Given the description of an element on the screen output the (x, y) to click on. 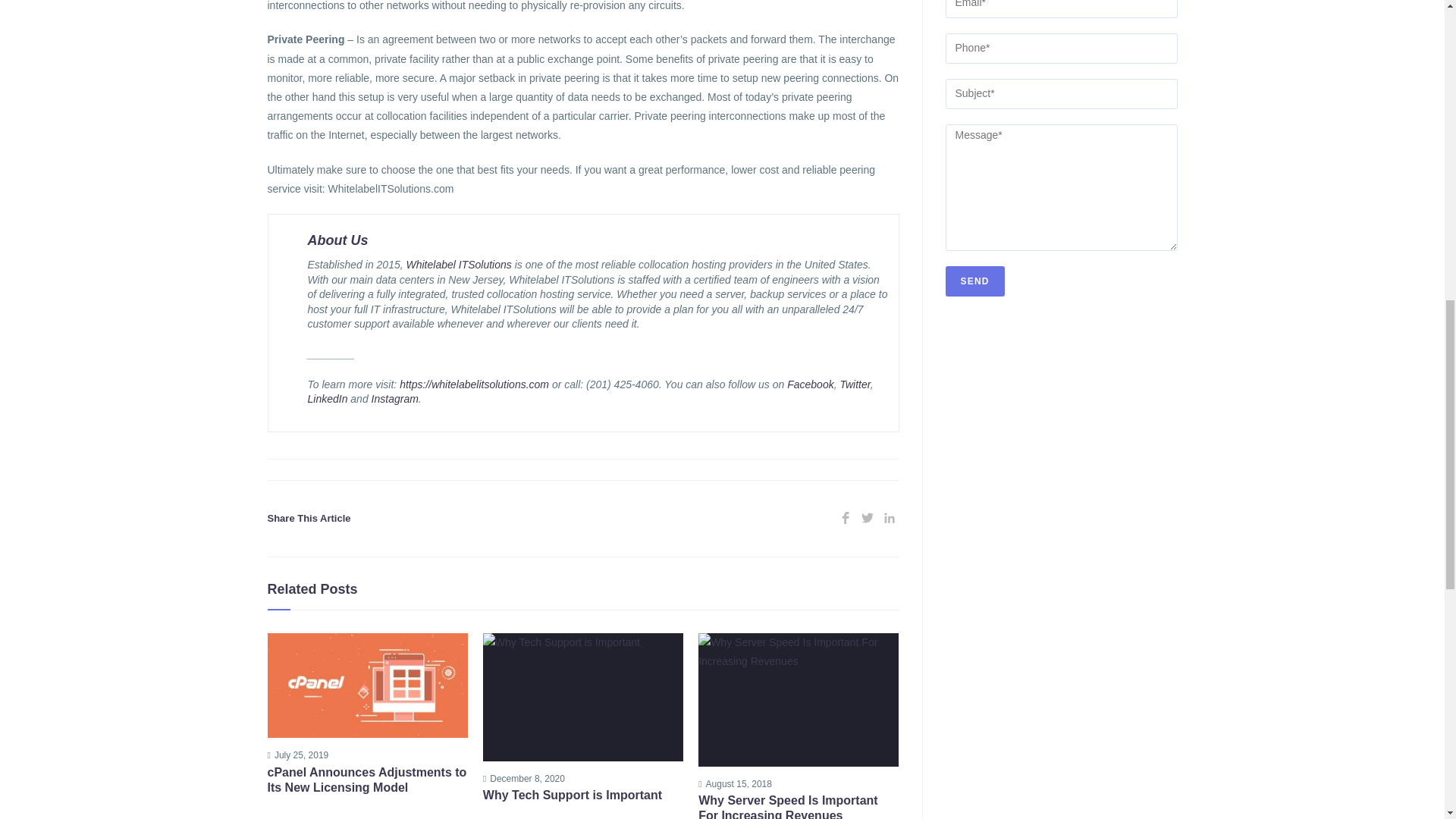
Share on Twitter (868, 518)
Why Tech Support is Important (582, 795)
cPanel Announces Adjustments to Its New Licensing Model (366, 779)
Share on LinkedIn (888, 518)
Share on Facebook (844, 518)
Why Server Speed Is Important For Increasing Revenues (798, 806)
Send (974, 281)
